Given the description of an element on the screen output the (x, y) to click on. 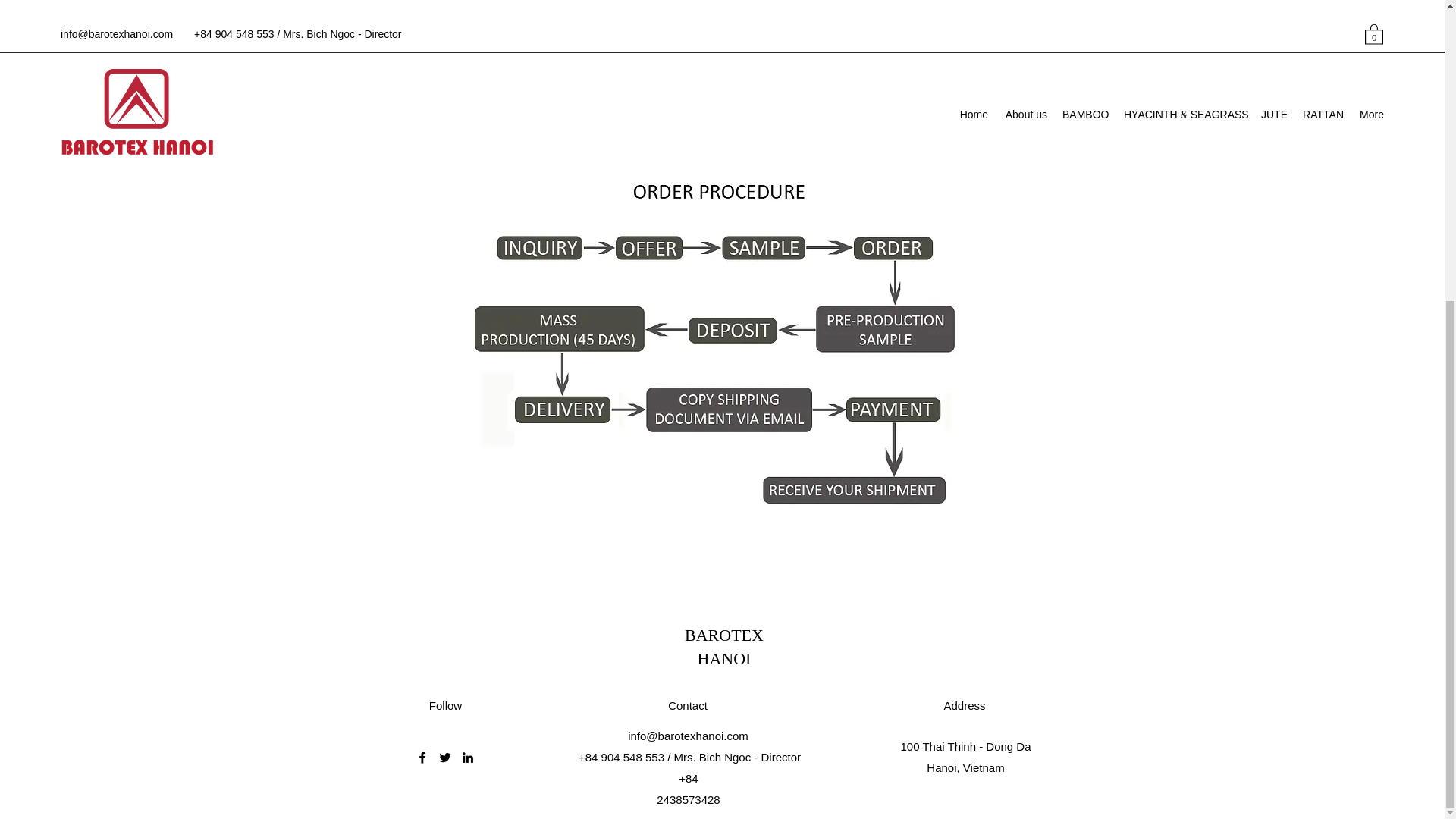
BAROTEX HANOI (723, 646)
Get in Touch (722, 102)
